Given the description of an element on the screen output the (x, y) to click on. 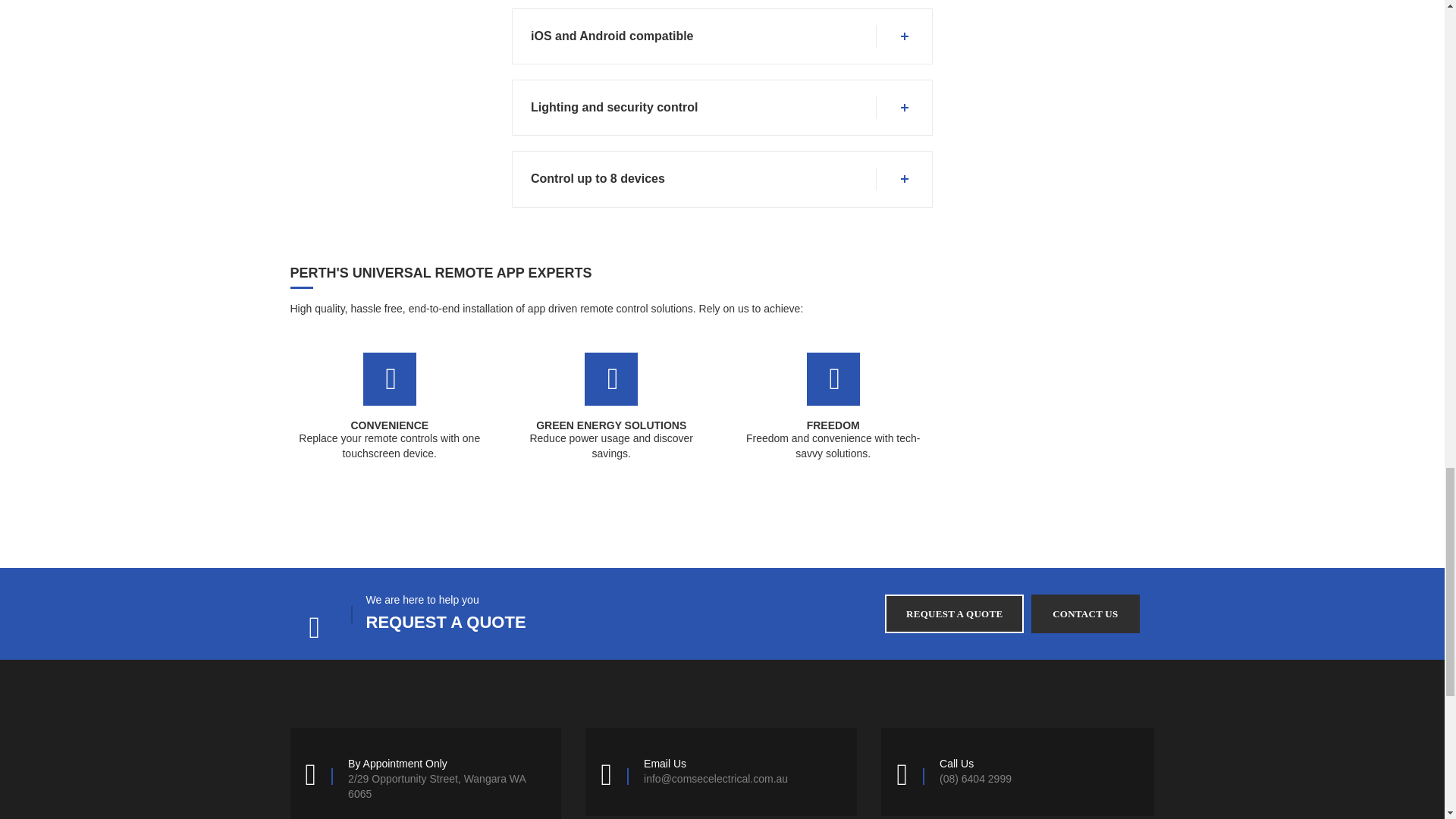
REQUEST A QUOTE (954, 613)
CONTACT US (1084, 613)
Lighting and security control (719, 107)
Control up to 8 devices (719, 178)
iOS and Android compatible (719, 36)
